Given the description of an element on the screen output the (x, y) to click on. 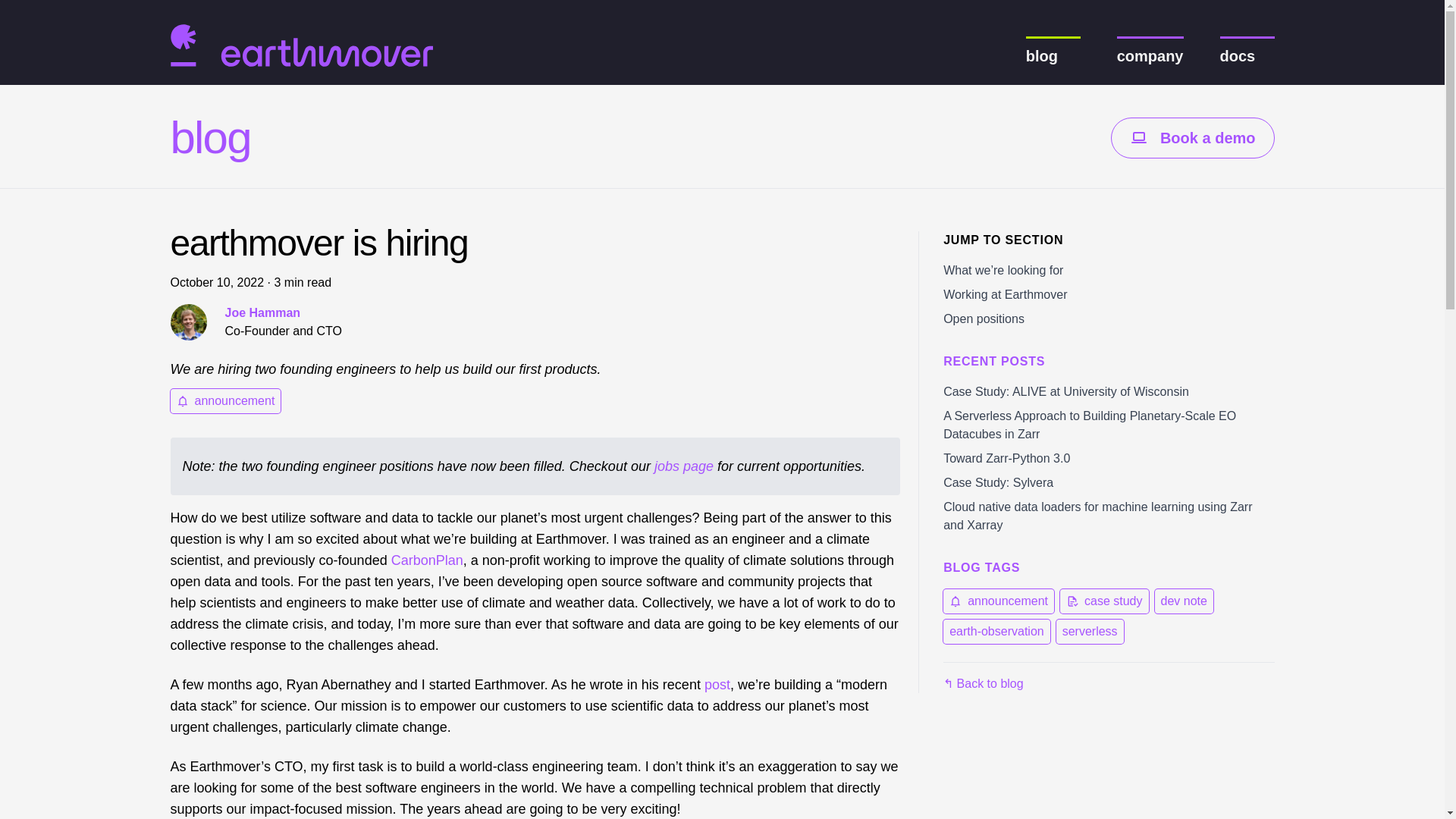
serverless (1090, 631)
jobs page (683, 466)
case study (1103, 600)
dev note (1183, 600)
post (717, 684)
Open positions (984, 318)
Joe Hamman (261, 312)
company (1149, 55)
CarbonPlan (427, 560)
Case Study: ALIVE at University of Wisconsin (1066, 391)
blog (210, 137)
Working at Earthmover (1005, 294)
Case Study: Sylvera (997, 481)
announcement (998, 600)
